Given the description of an element on the screen output the (x, y) to click on. 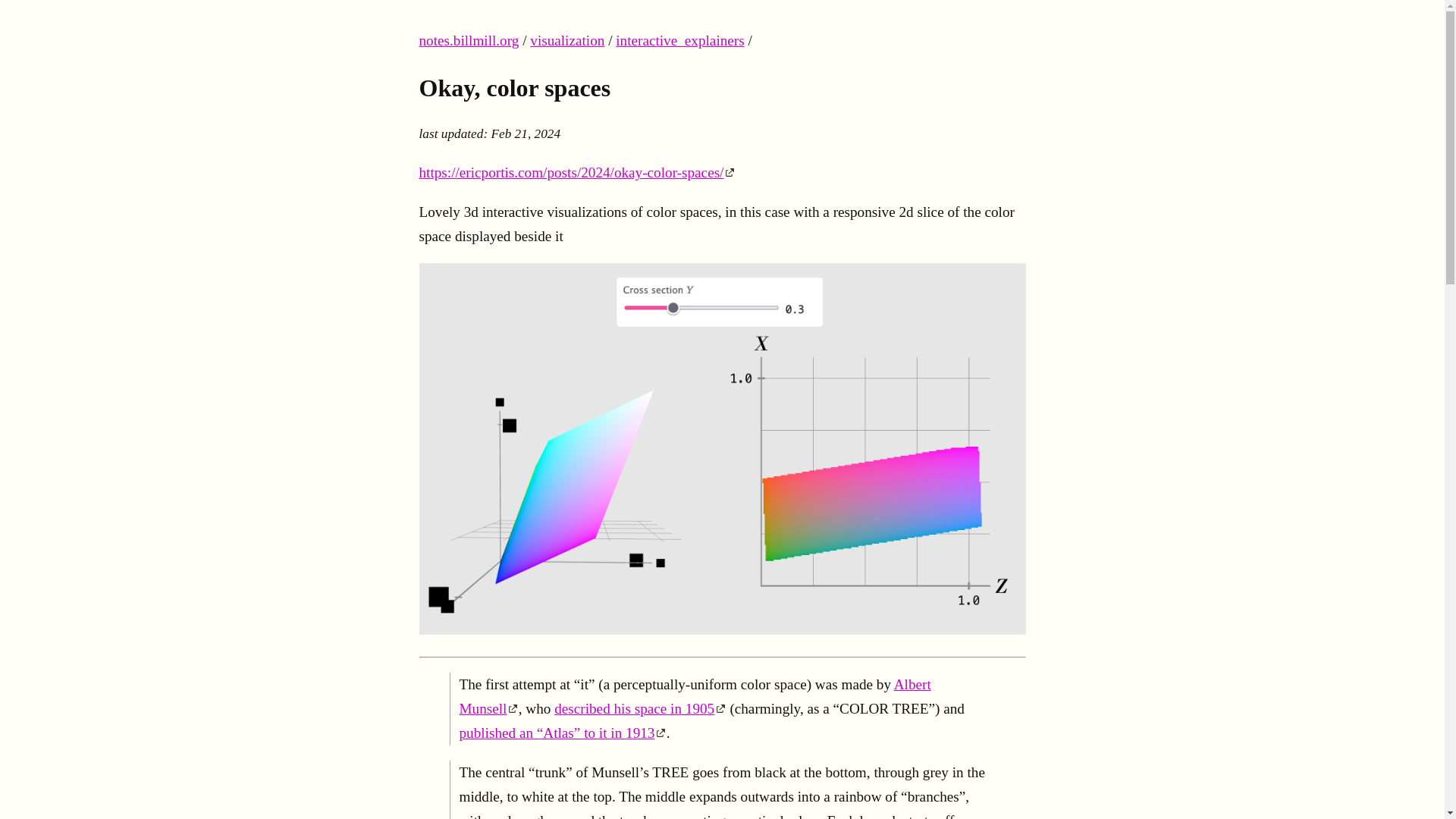
visualization (566, 40)
Albert Munsell (695, 696)
notes.billmill.org (468, 40)
described his space in 1905 (639, 708)
